Given the description of an element on the screen output the (x, y) to click on. 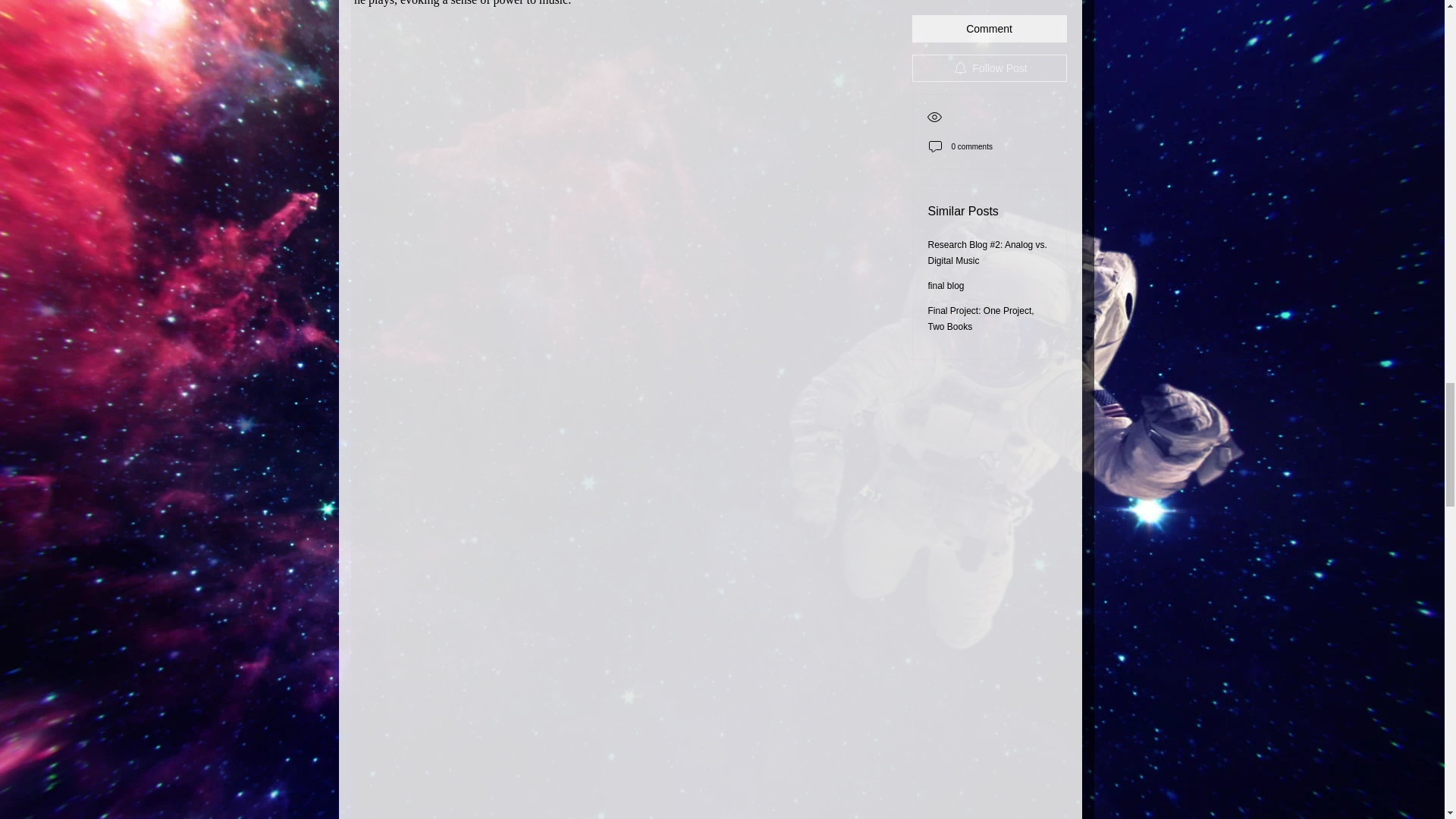
ricos-video (619, 85)
ricos-video (619, 728)
ricos-video (619, 407)
